Given the description of an element on the screen output the (x, y) to click on. 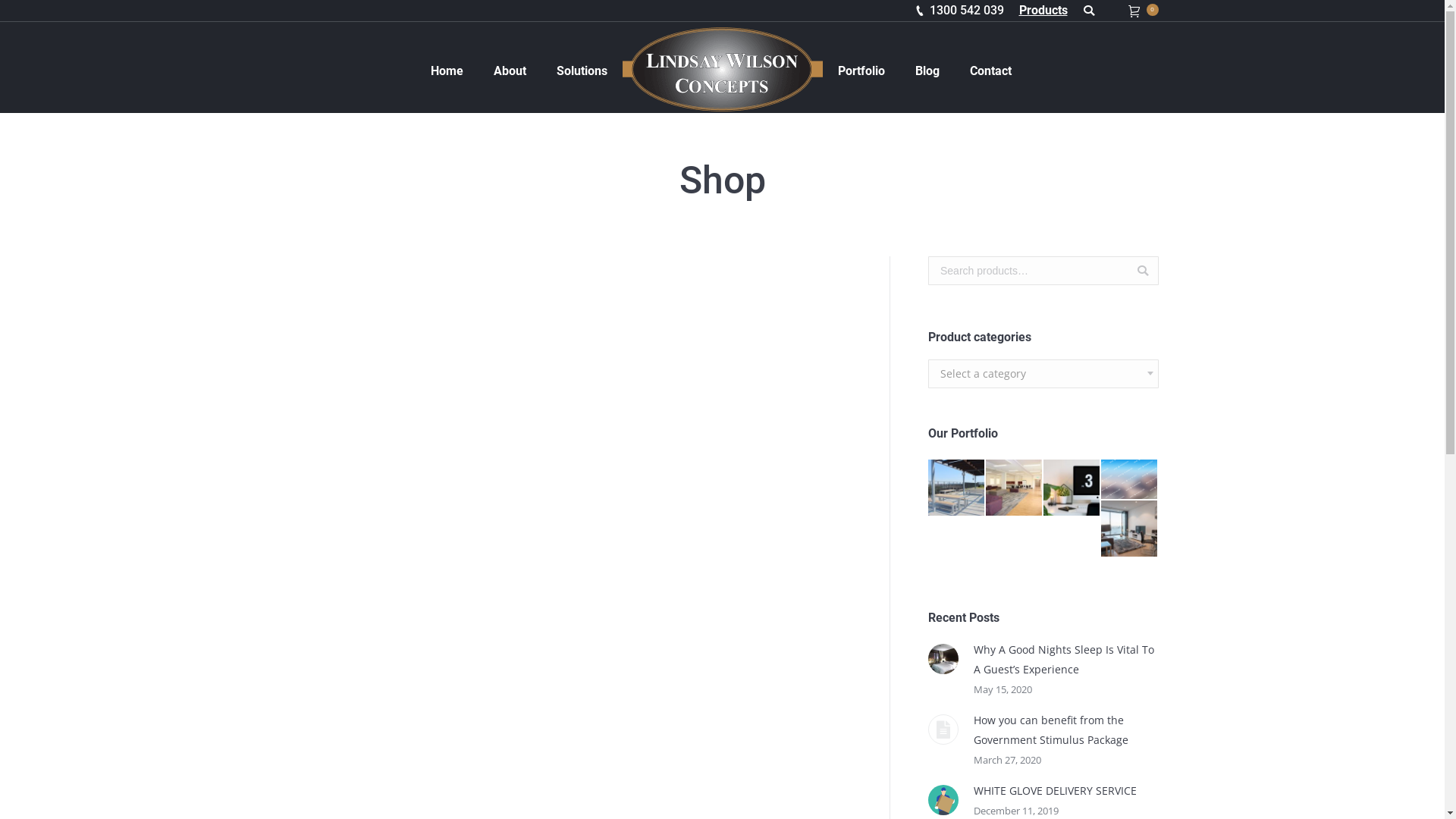
Search Element type: text (1141, 270)
University of New South Wales (UNSW) Randwick, NSW Element type: hover (956, 488)
Portfolio Element type: text (860, 71)
How you can benefit from the Government Stimulus Package Element type: text (1065, 729)
WHITE GLOVE DELIVERY SERVICE Element type: text (1054, 790)
Blog Element type: text (926, 71)
  Element type: text (1091, 10)
About Element type: text (508, 71)
Contact Element type: text (989, 71)
Solutions Element type: text (581, 71)
Go! Element type: text (26, 14)
1300 542 039 Element type: text (966, 10)
Wyndel Apartments Element type: hover (1129, 529)
 0 Element type: text (1137, 10)
Products Element type: text (1043, 10)
Home Element type: text (446, 71)
The Armidale School, Regional NSW Element type: hover (1014, 488)
Milson Apartments, Milsons Point Element type: hover (1072, 488)
Hotel, Haymarket NSW Element type: hover (1129, 479)
